Given the description of an element on the screen output the (x, y) to click on. 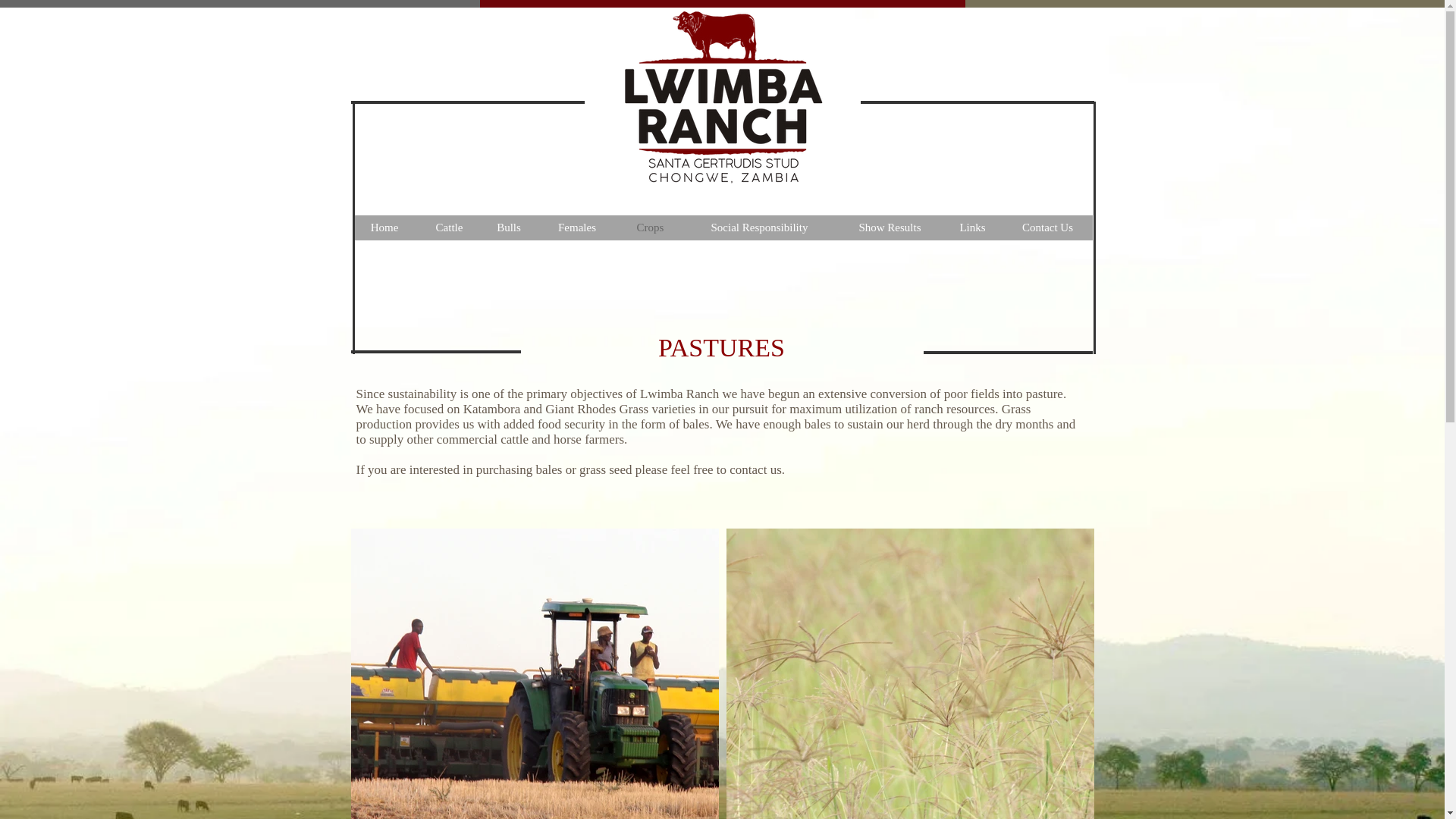
Social Responsibility (758, 227)
PASTURES (721, 347)
Links (972, 227)
Females (577, 227)
Cattle (448, 227)
Home (384, 227)
Crops (649, 227)
Contact Us (1047, 227)
Show Results (889, 227)
Bulls (507, 227)
